Given the description of an element on the screen output the (x, y) to click on. 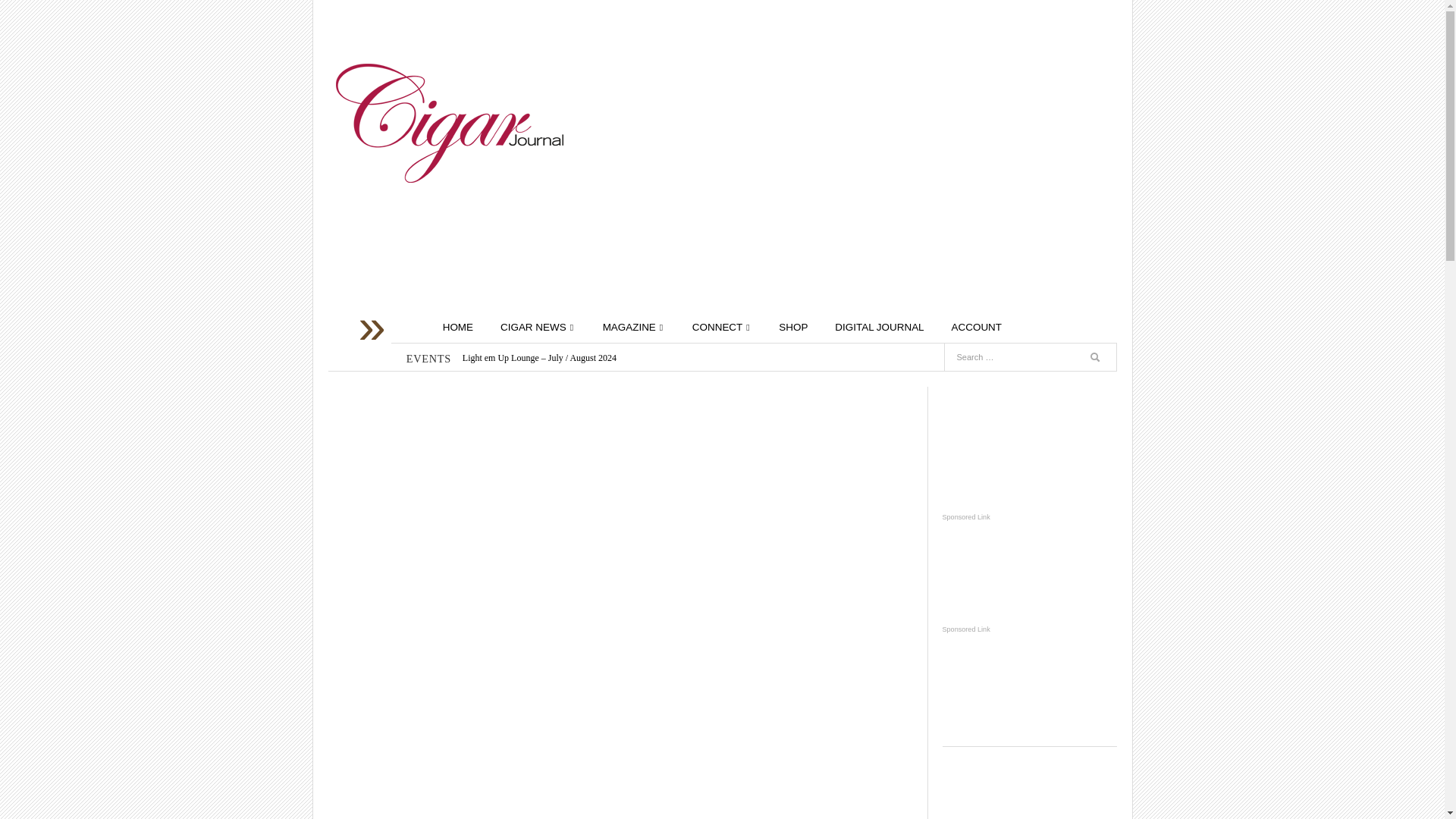
Search (1091, 328)
Cigar Journal (448, 122)
Cigar Journal (448, 122)
Search (1098, 359)
HOME (457, 327)
